Given the description of an element on the screen output the (x, y) to click on. 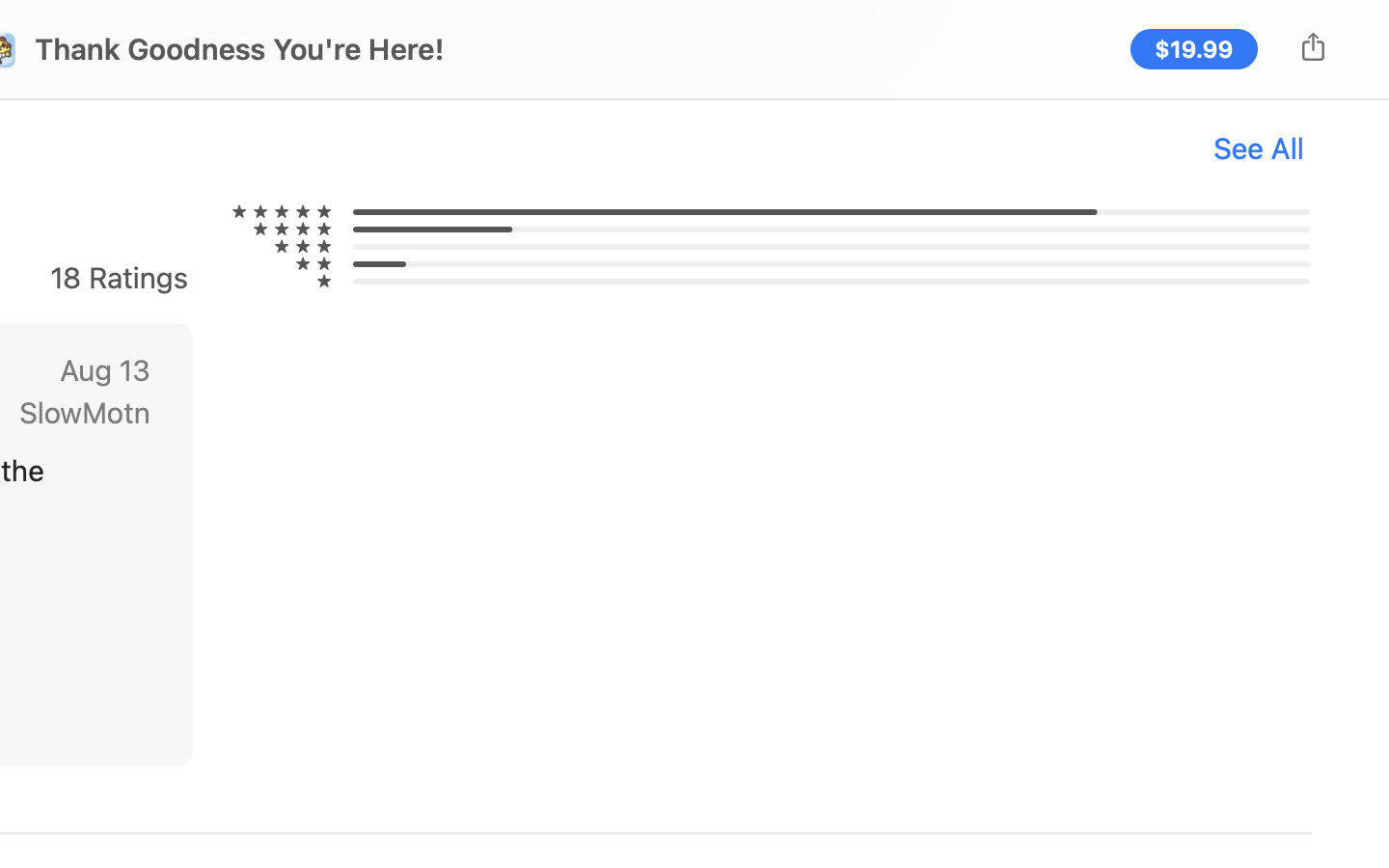
Thank Goodness You're Here! Element type: AXStaticText (239, 48)
